Given the description of an element on the screen output the (x, y) to click on. 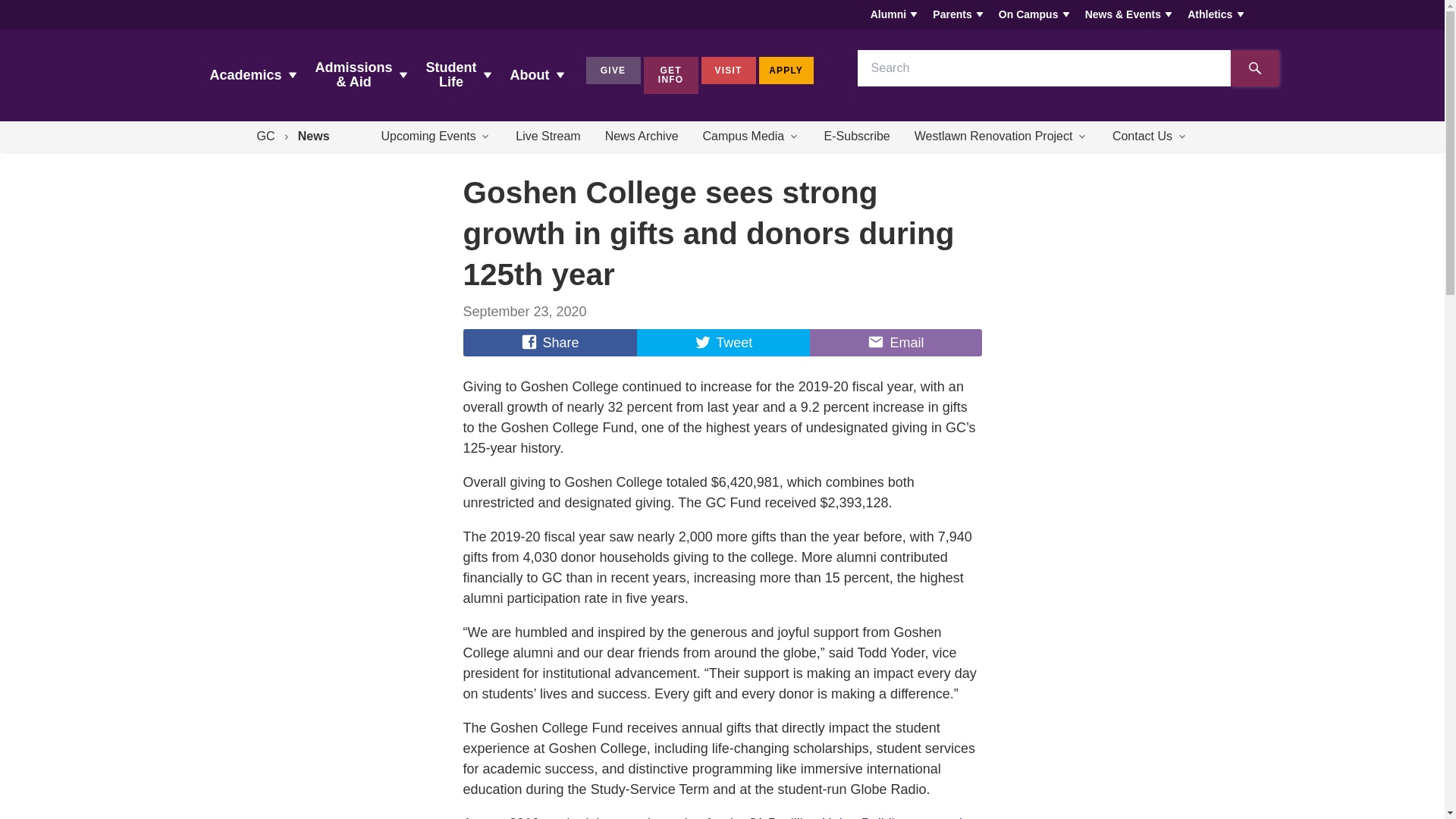
Share via Email (895, 342)
Share on Facebook (549, 342)
Share on Twitter (723, 342)
